Given the description of an element on the screen output the (x, y) to click on. 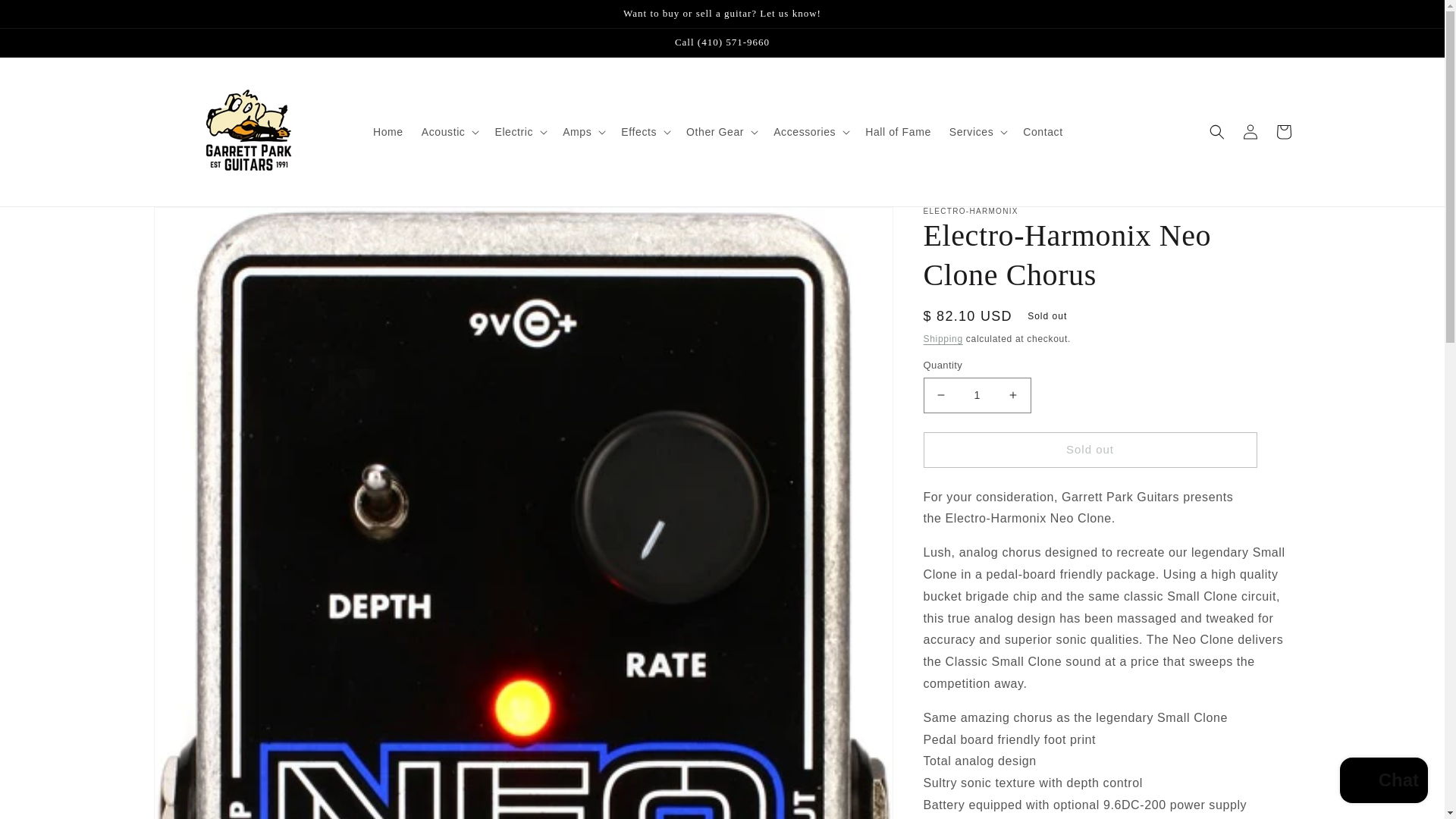
1 (976, 395)
Skip to content (45, 17)
Shopify online store chat (1383, 781)
